Given the description of an element on the screen output the (x, y) to click on. 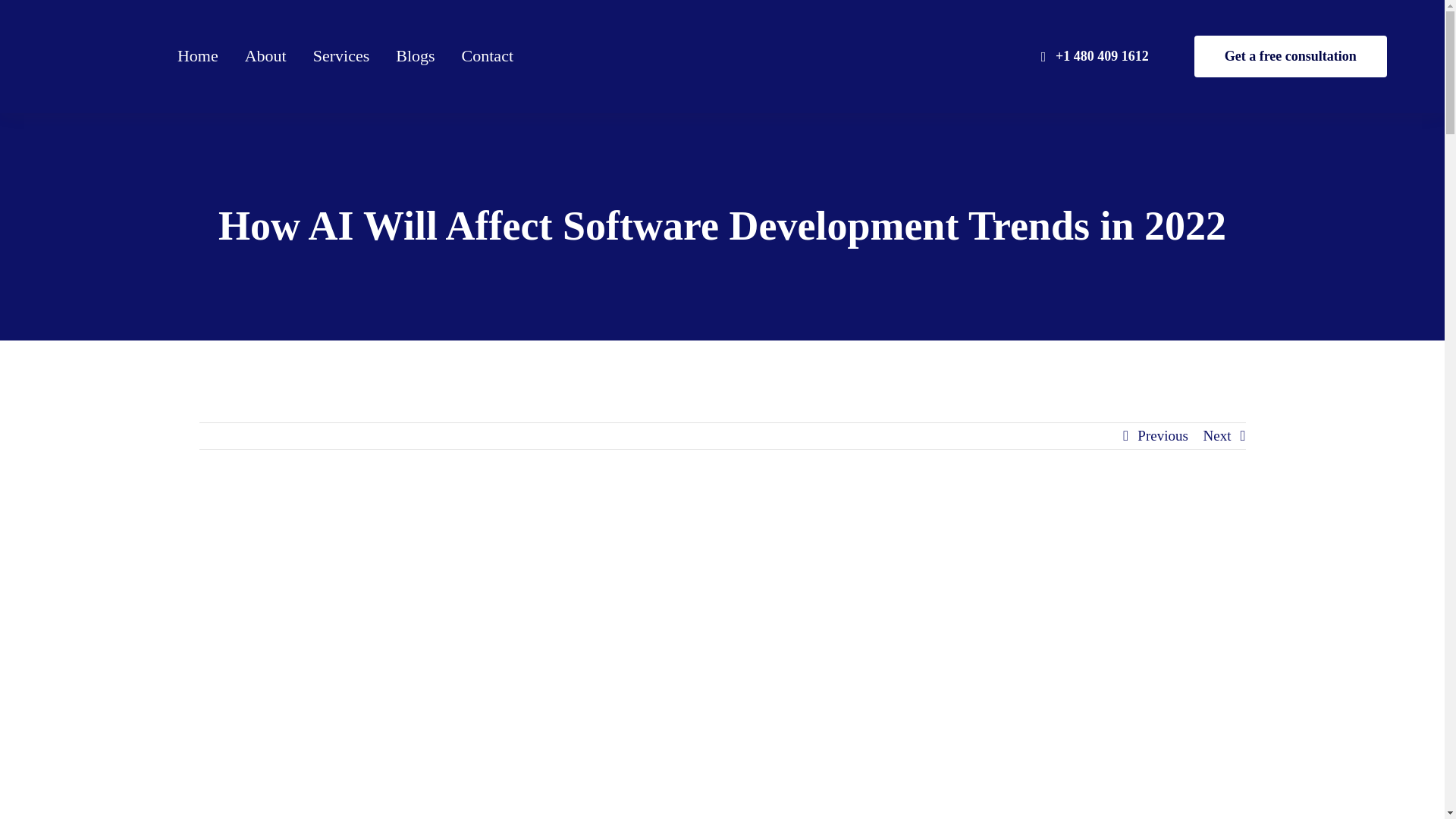
About (265, 56)
Previous (1162, 435)
Next (1217, 435)
Blogs (414, 56)
Services (341, 56)
Get a free consultation (1290, 56)
Contact (487, 56)
Home (197, 56)
